Given the description of an element on the screen output the (x, y) to click on. 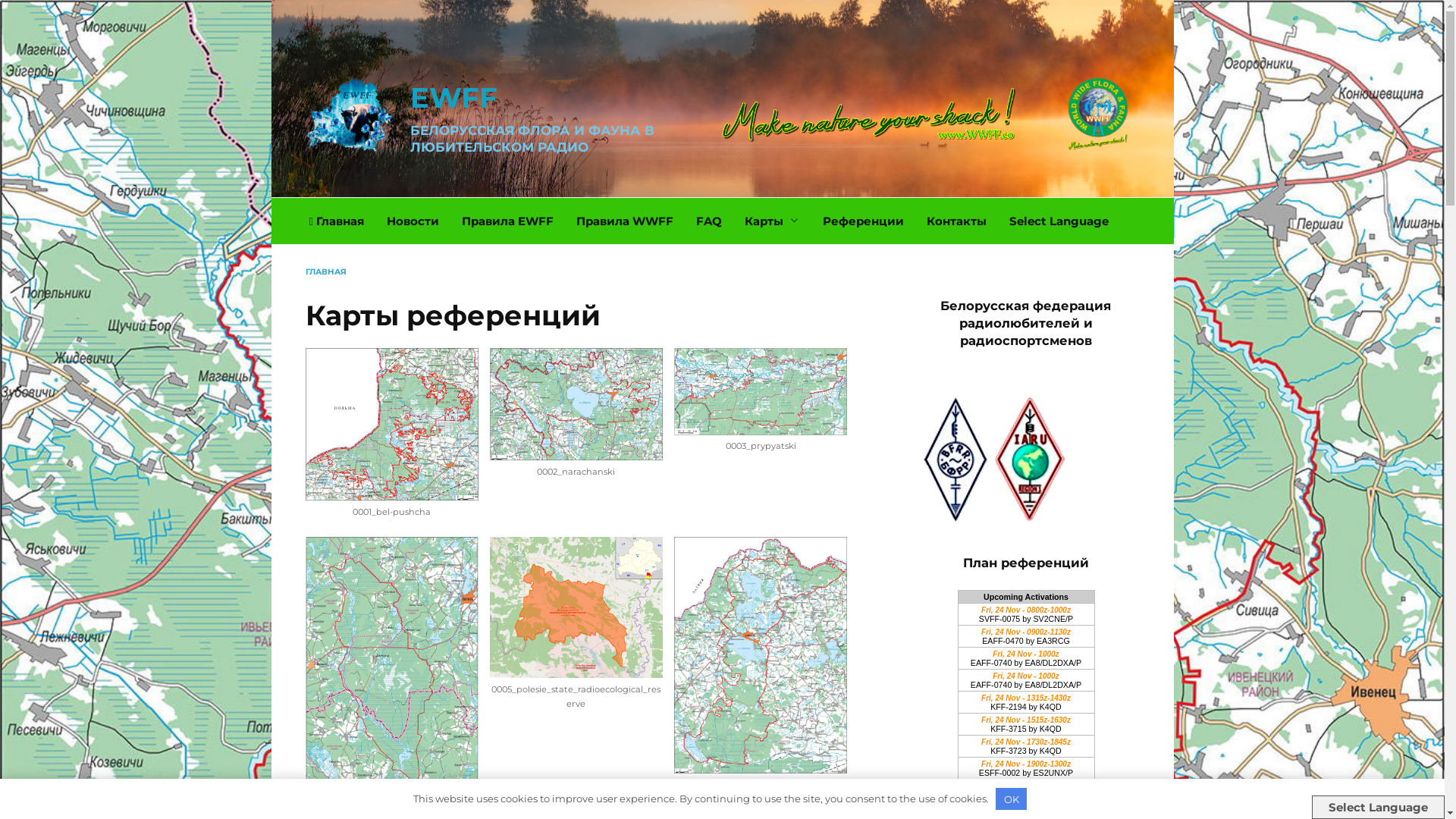
OK Element type: text (1010, 798)
EWFF Element type: text (453, 97)
FAQ Element type: text (708, 220)
Select Language Element type: text (1058, 220)
